Given the description of an element on the screen output the (x, y) to click on. 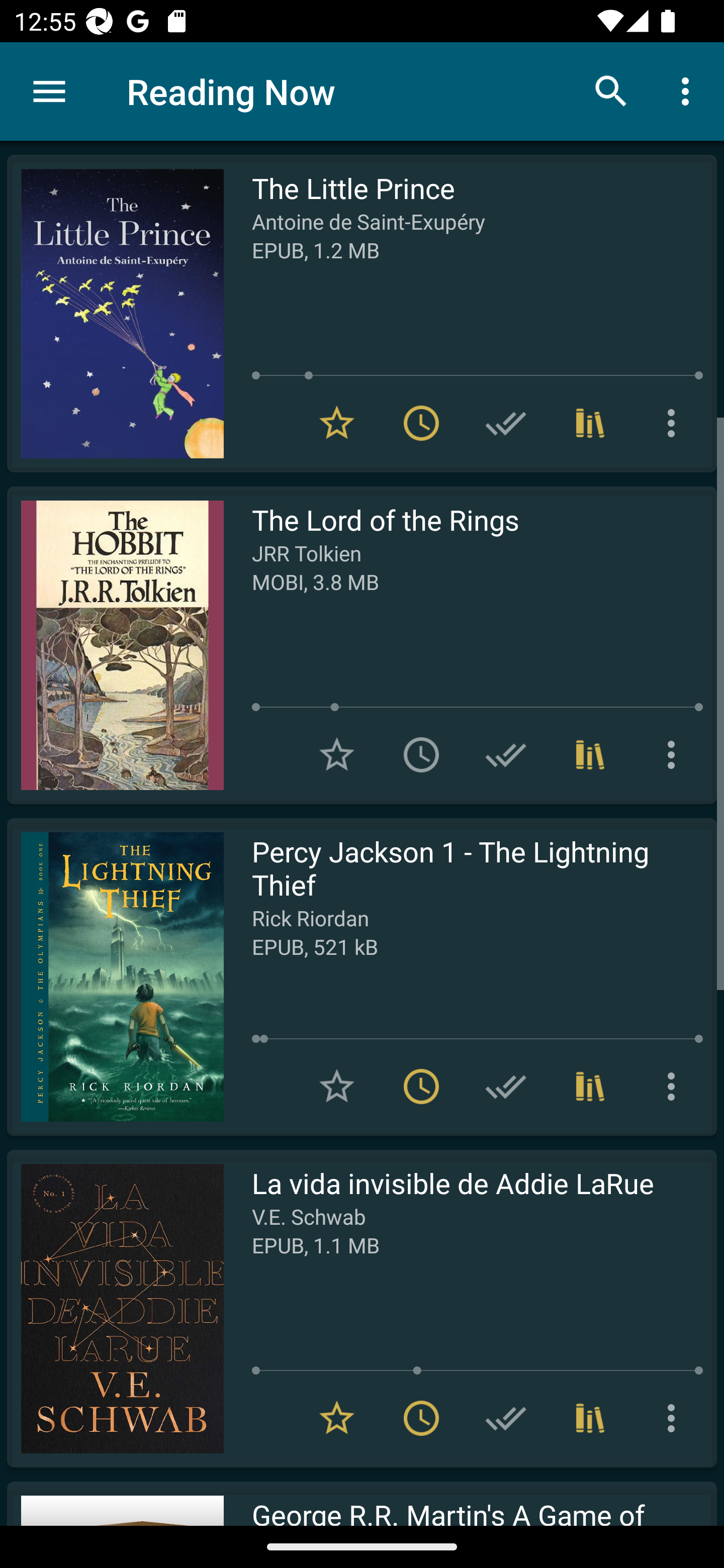
Menu (49, 91)
Search books & documents (611, 90)
More options (688, 90)
Read The Little Prince (115, 313)
Remove from Favorites (336, 423)
Remove from To read (421, 423)
Add to Have read (505, 423)
Collections (1) (590, 423)
More options (674, 423)
Read The Lord of the Rings (115, 645)
Add to Favorites (336, 753)
Add to To read (421, 753)
Add to Have read (505, 753)
Collections (1) (590, 753)
More options (674, 753)
Read Percy Jackson 1 - The Lightning Thief (115, 976)
Add to Favorites (336, 1086)
Remove from To read (421, 1086)
Add to Have read (505, 1086)
Collections (1) (590, 1086)
More options (674, 1086)
Read La vida invisible de Addie LaRue (115, 1308)
Remove from Favorites (336, 1417)
Remove from To read (421, 1417)
Add to Have read (505, 1417)
Collections (1) (590, 1417)
More options (674, 1417)
